Given the description of an element on the screen output the (x, y) to click on. 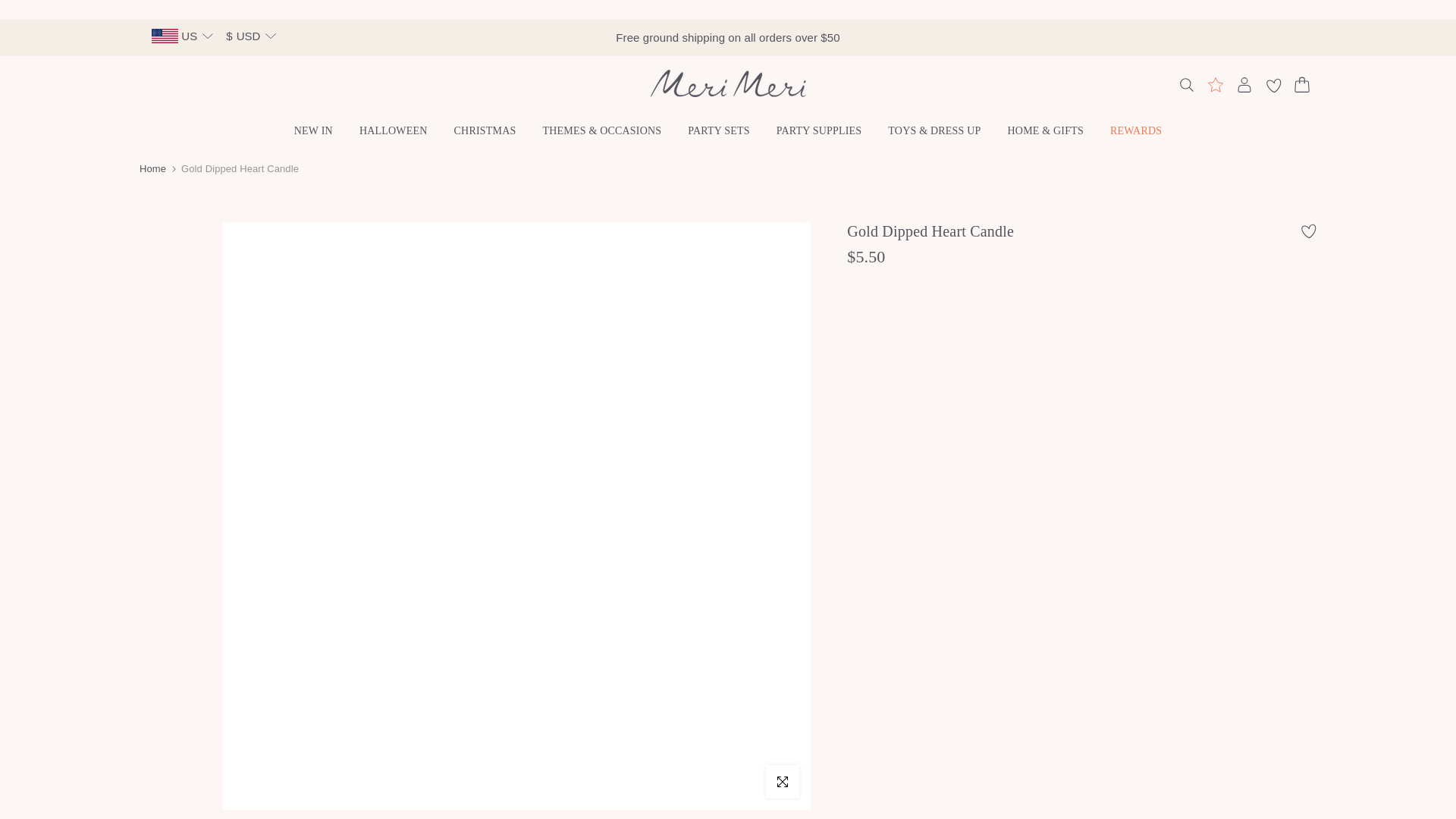
Party Perks landing page for rewards (1215, 84)
PARTY SUPPLIES (818, 131)
Skip to Content (14, 7)
PARTY SETS (718, 131)
NEW IN (313, 131)
CHRISTMAS (485, 131)
Home (152, 168)
HALLOWEEN (393, 131)
REWARDS (1135, 131)
